Given the description of an element on the screen output the (x, y) to click on. 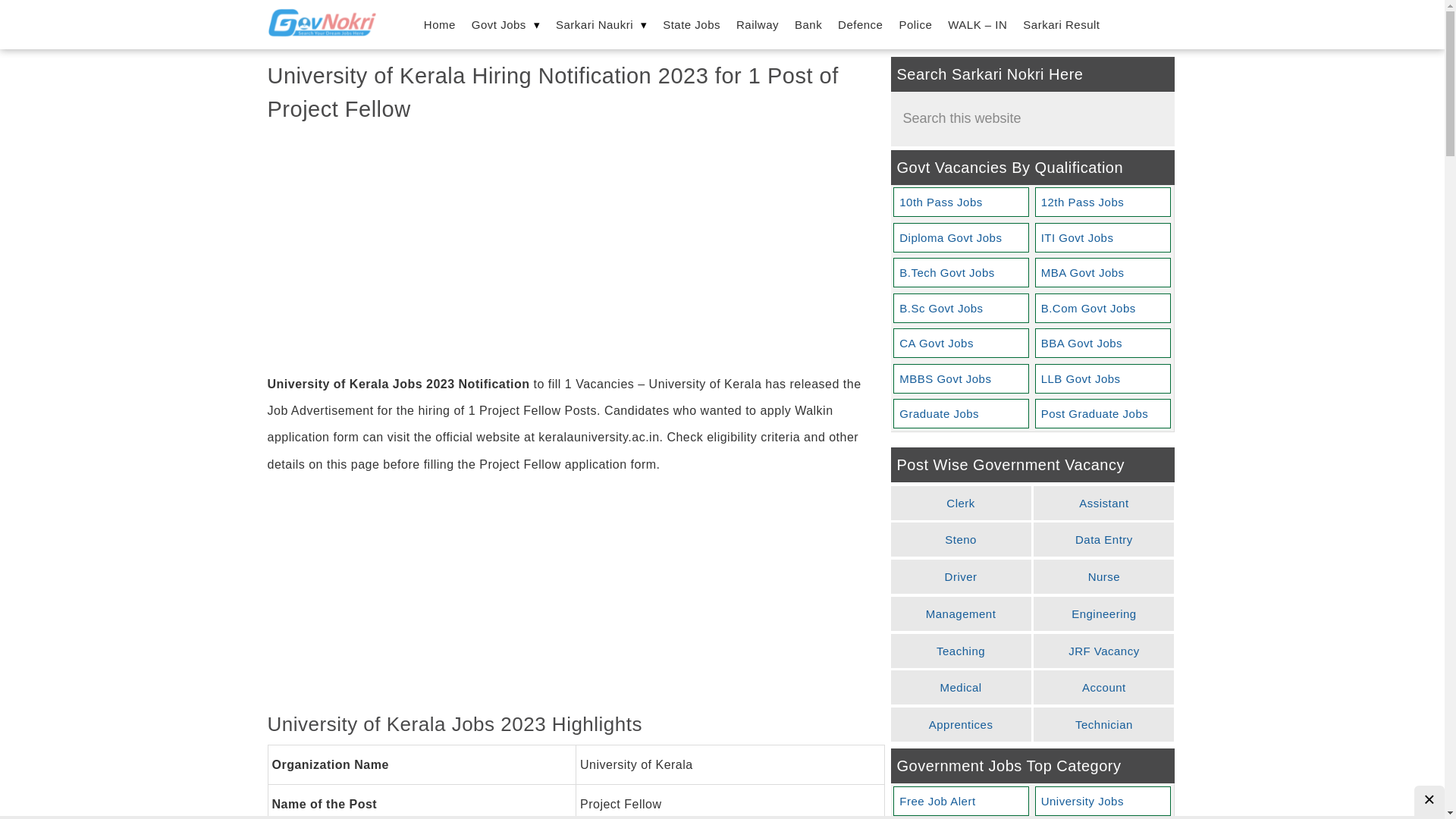
CA Govt Jobs (960, 343)
Home (439, 24)
State Jobs (691, 24)
ITI Govt Jobs (1102, 237)
Sarkari Naukri (601, 24)
B.Tech Govt Jobs (960, 272)
Post Graduate Jobs (1102, 413)
LLB Govt Jobs (1102, 377)
Govt Jobs (505, 24)
B.Sc Govt Jobs (960, 308)
Diploma Govt Jobs (960, 237)
MBA Govt Jobs (1102, 272)
B.Com Govt Jobs (1102, 308)
Sarkari Result (1060, 24)
